Given the description of an element on the screen output the (x, y) to click on. 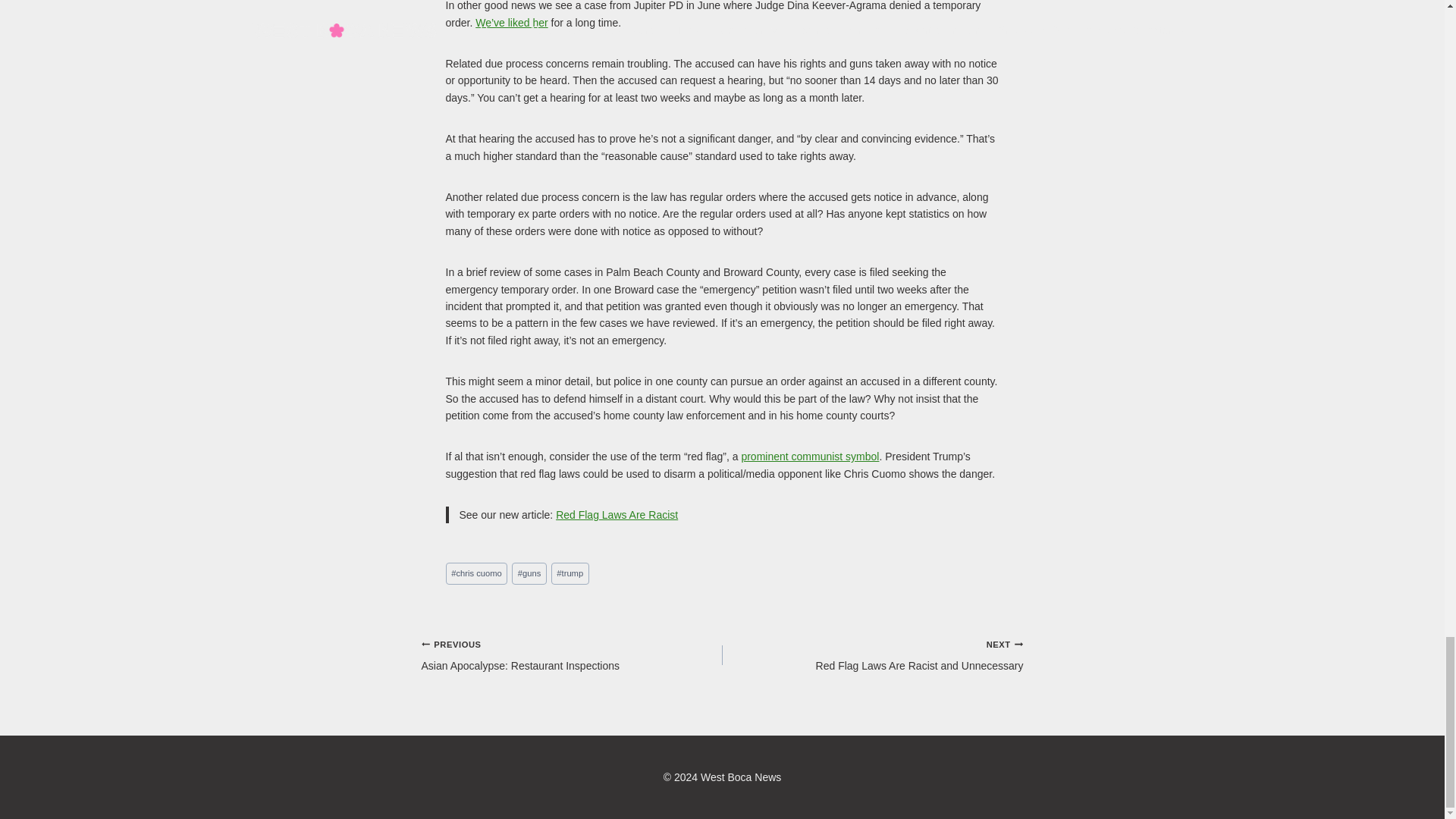
guns (529, 573)
chris cuomo (476, 573)
trump (570, 573)
